Given the description of an element on the screen output the (x, y) to click on. 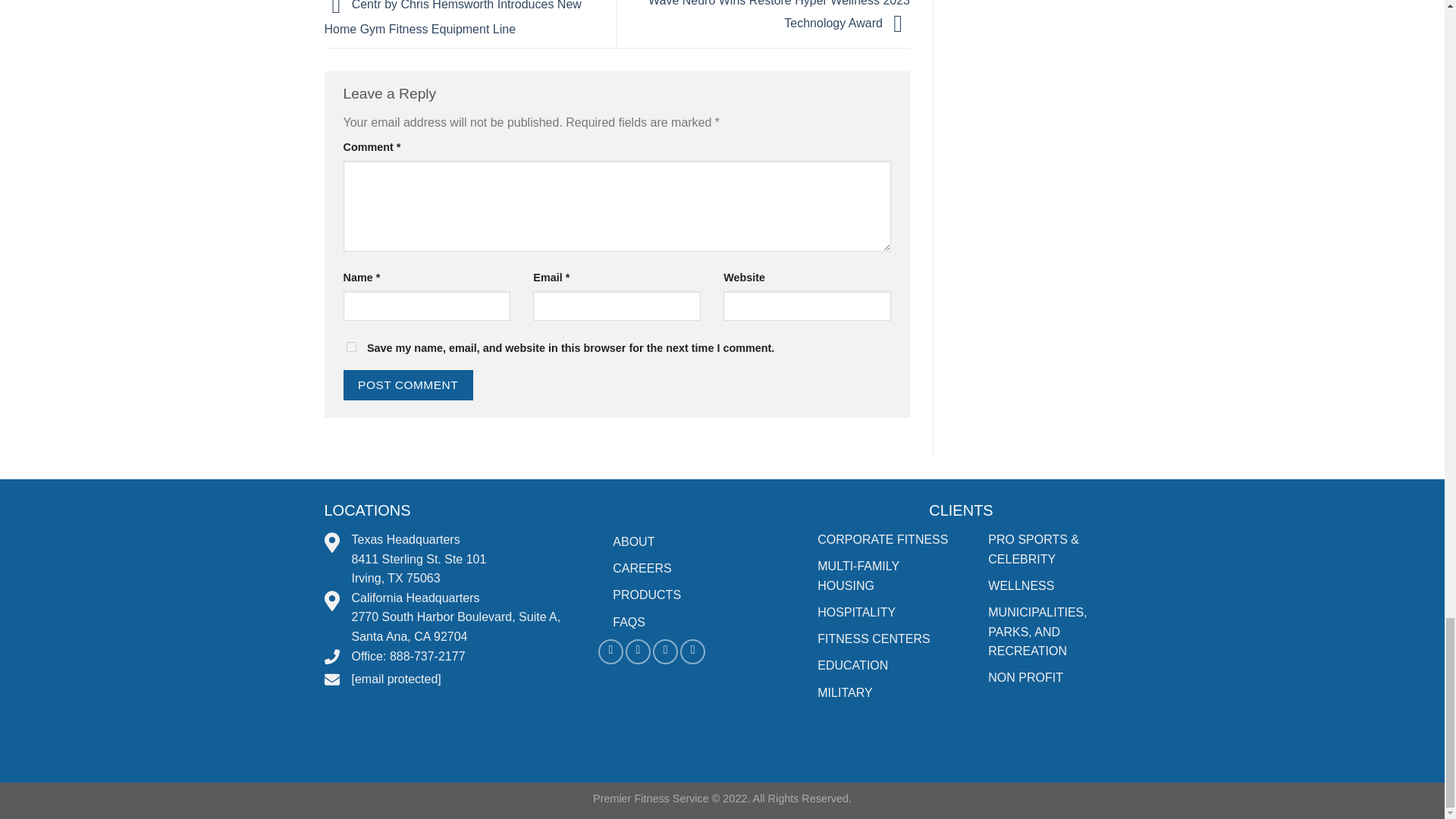
yes (350, 347)
Post Comment (406, 384)
Follow on Facebook (610, 651)
Follow on Instagram (638, 651)
